Given the description of an element on the screen output the (x, y) to click on. 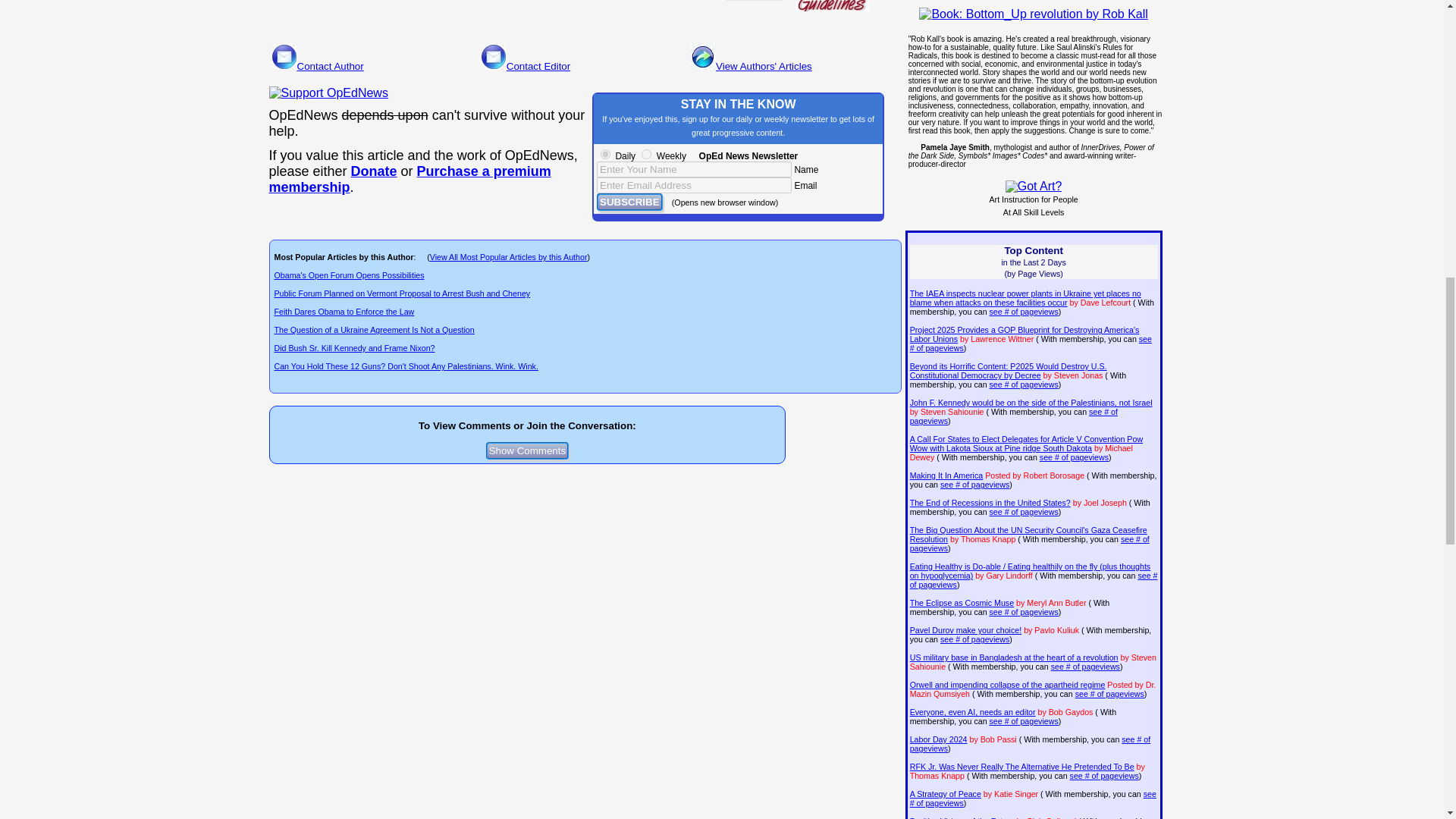
Daily (604, 153)
Enter Your Name (694, 169)
Writers Guidelines (831, 5)
-- (408, 178)
Support OpEdNews (327, 92)
Weekly (646, 153)
-- (373, 171)
SUBSCRIBE (629, 201)
Show Comments (527, 450)
Enter Email Address (694, 185)
